Given the description of an element on the screen output the (x, y) to click on. 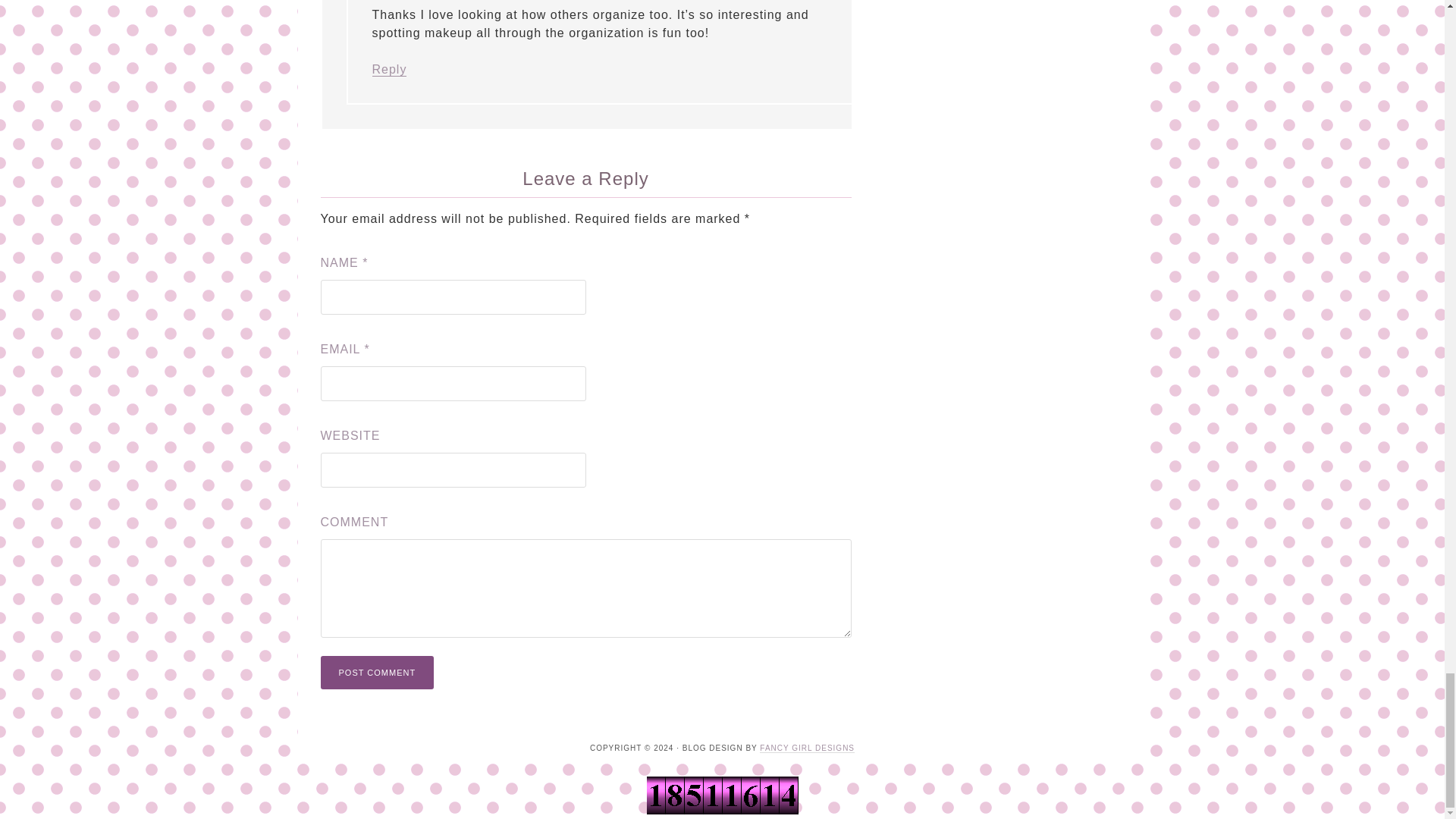
Post Comment (376, 672)
